Given the description of an element on the screen output the (x, y) to click on. 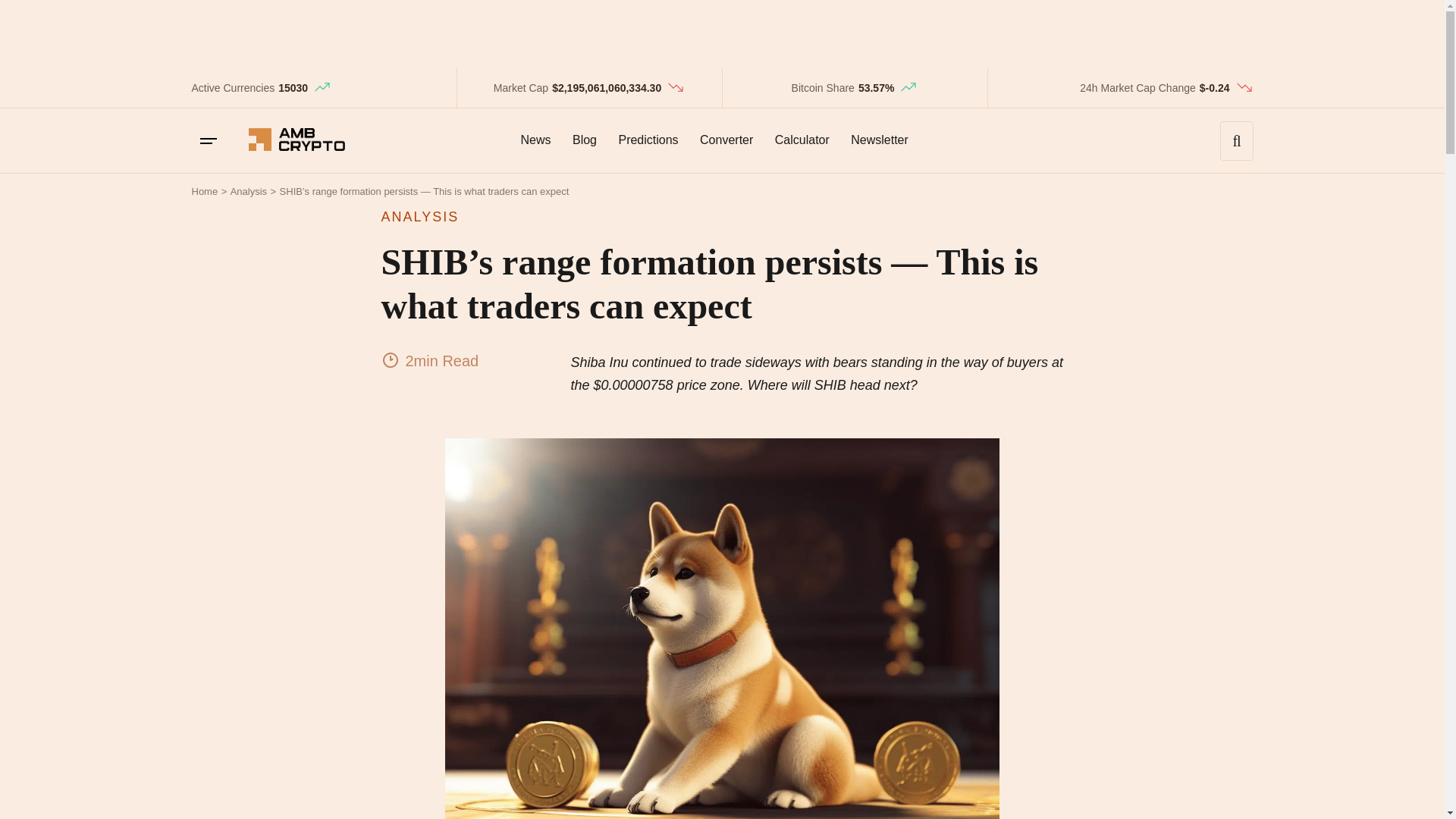
Home (203, 191)
Predictions (647, 139)
ANALYSIS (721, 216)
News (535, 139)
Calculator (801, 139)
Converter (725, 139)
Blog (584, 139)
Analysis (248, 191)
Analysis (248, 191)
Newsletter (879, 139)
